Given the description of an element on the screen output the (x, y) to click on. 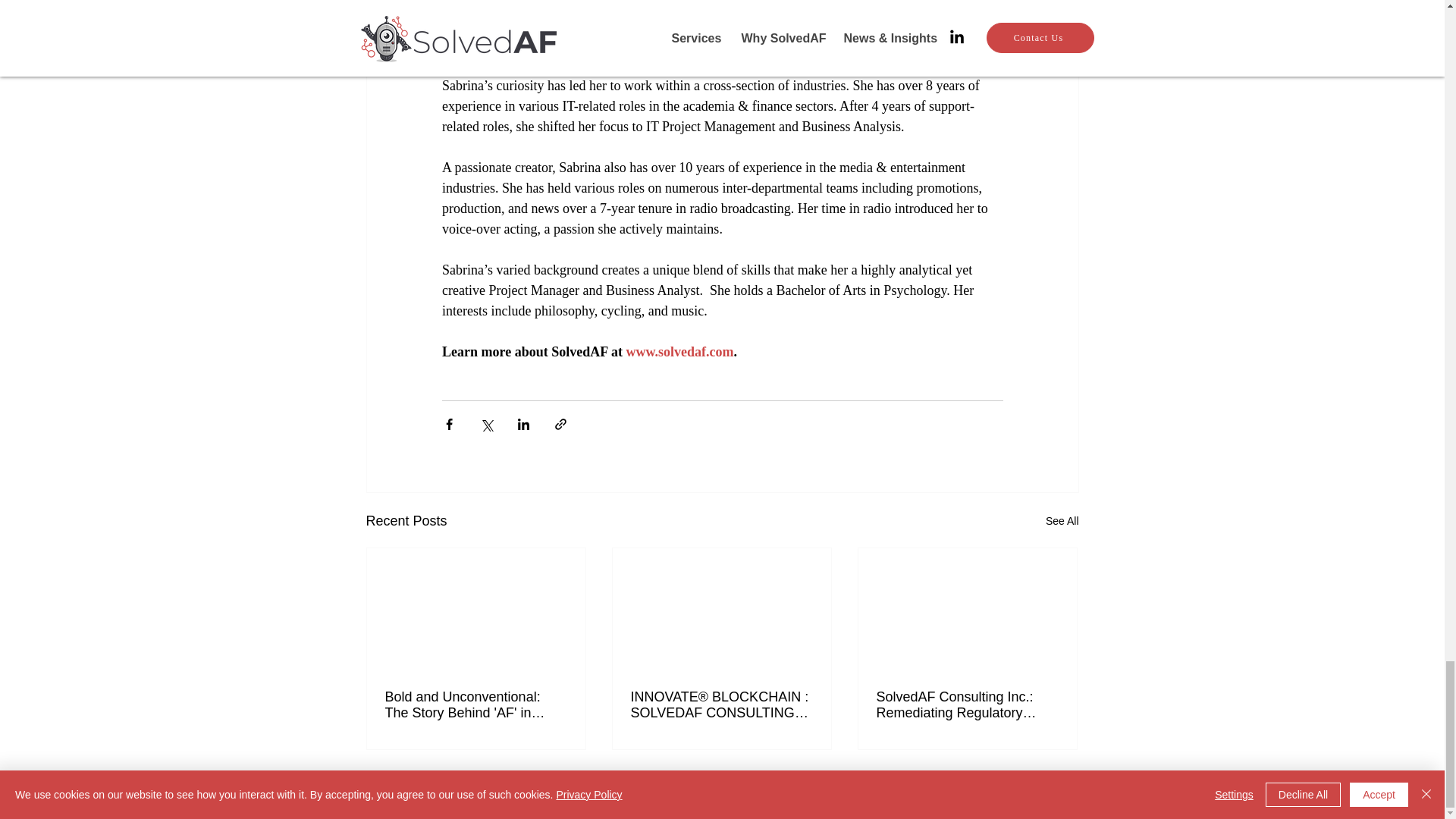
Privacy Policy  (1033, 798)
Bold and Unconventional: The Story Behind 'AF' in SolvedAF (476, 705)
www.solvedaf.com (679, 351)
See All (1061, 521)
